Given the description of an element on the screen output the (x, y) to click on. 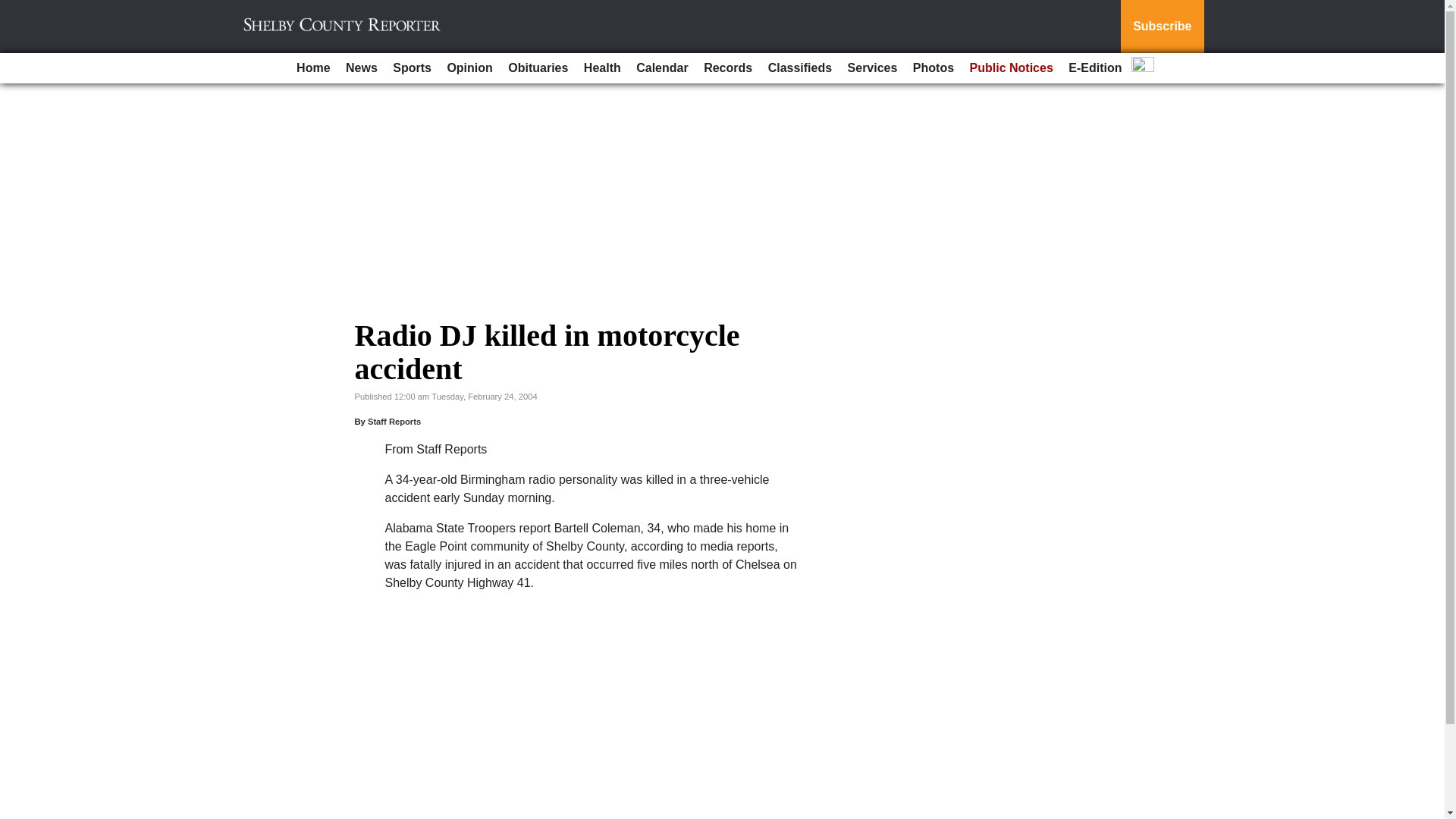
Obituaries (537, 68)
Records (727, 68)
Opinion (469, 68)
Subscribe (1162, 26)
Health (602, 68)
Classifieds (799, 68)
Calendar (662, 68)
News (361, 68)
Sports (412, 68)
Home (312, 68)
